Given the description of an element on the screen output the (x, y) to click on. 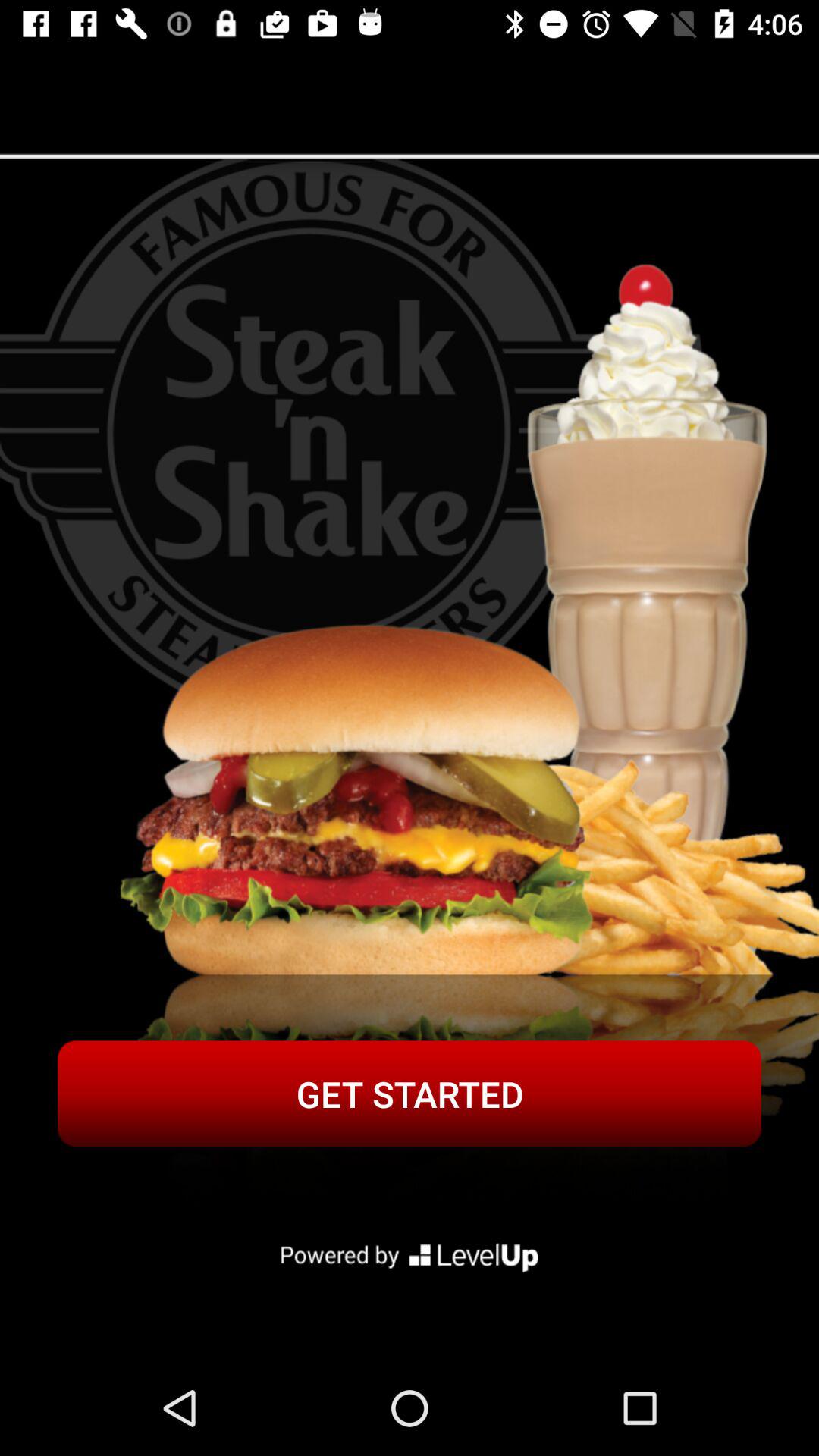
launch the get started item (409, 1093)
